Given the description of an element on the screen output the (x, y) to click on. 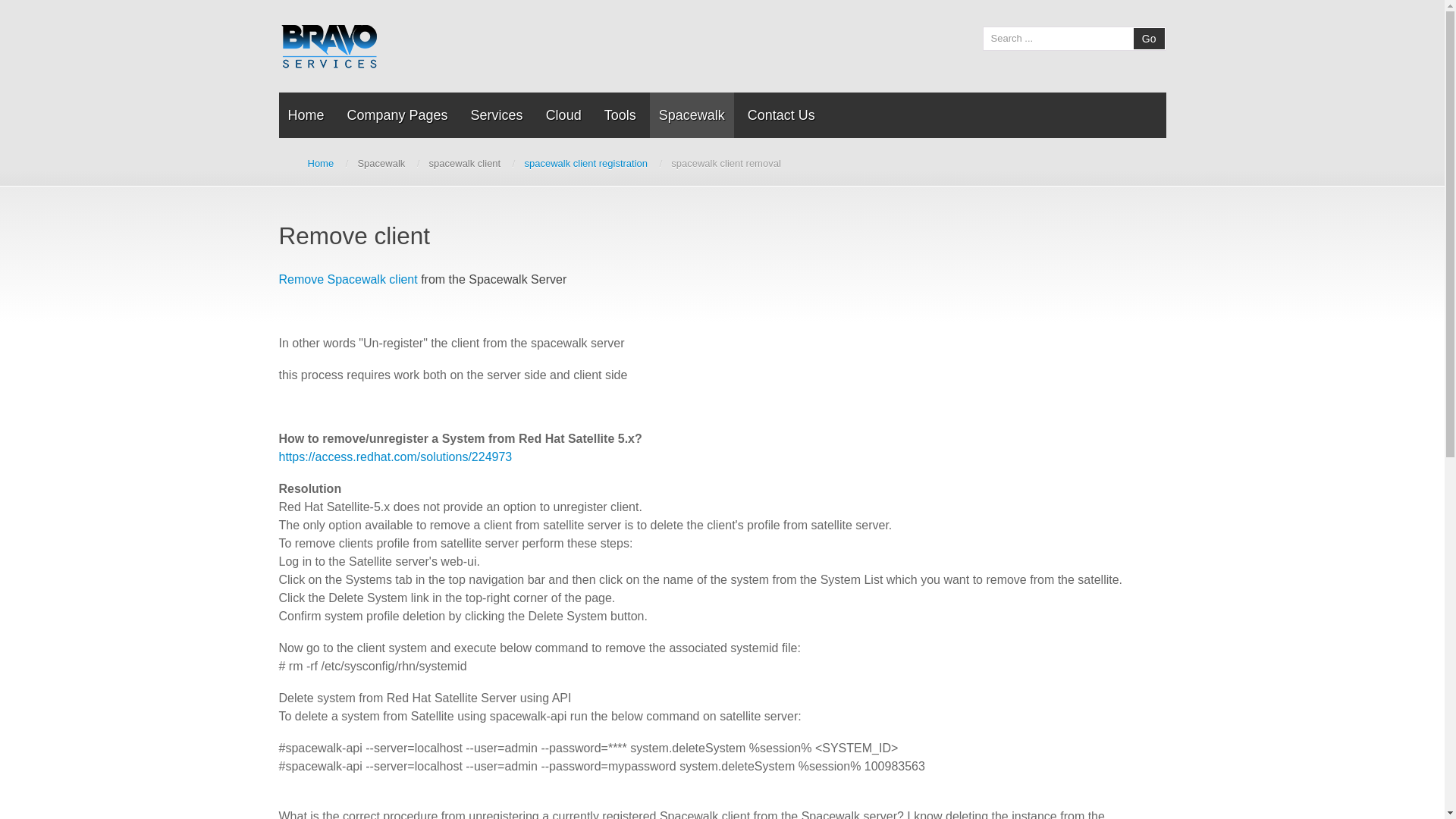
Cloud Element type: text (563, 115)
Go Element type: text (1148, 38)
Contact Us Element type: text (781, 115)
Home Element type: text (320, 163)
Services Element type: text (496, 115)
Tools Element type: text (620, 115)
Spacewalk Element type: text (691, 115)
Company Pages Element type: text (397, 115)
spacewalk client registration Element type: text (585, 163)
https://access.redhat.com/solutions/224973 Element type: text (395, 456)
Remove Spacewalk client Element type: text (348, 279)
Home Element type: text (306, 115)
